Given the description of an element on the screen output the (x, y) to click on. 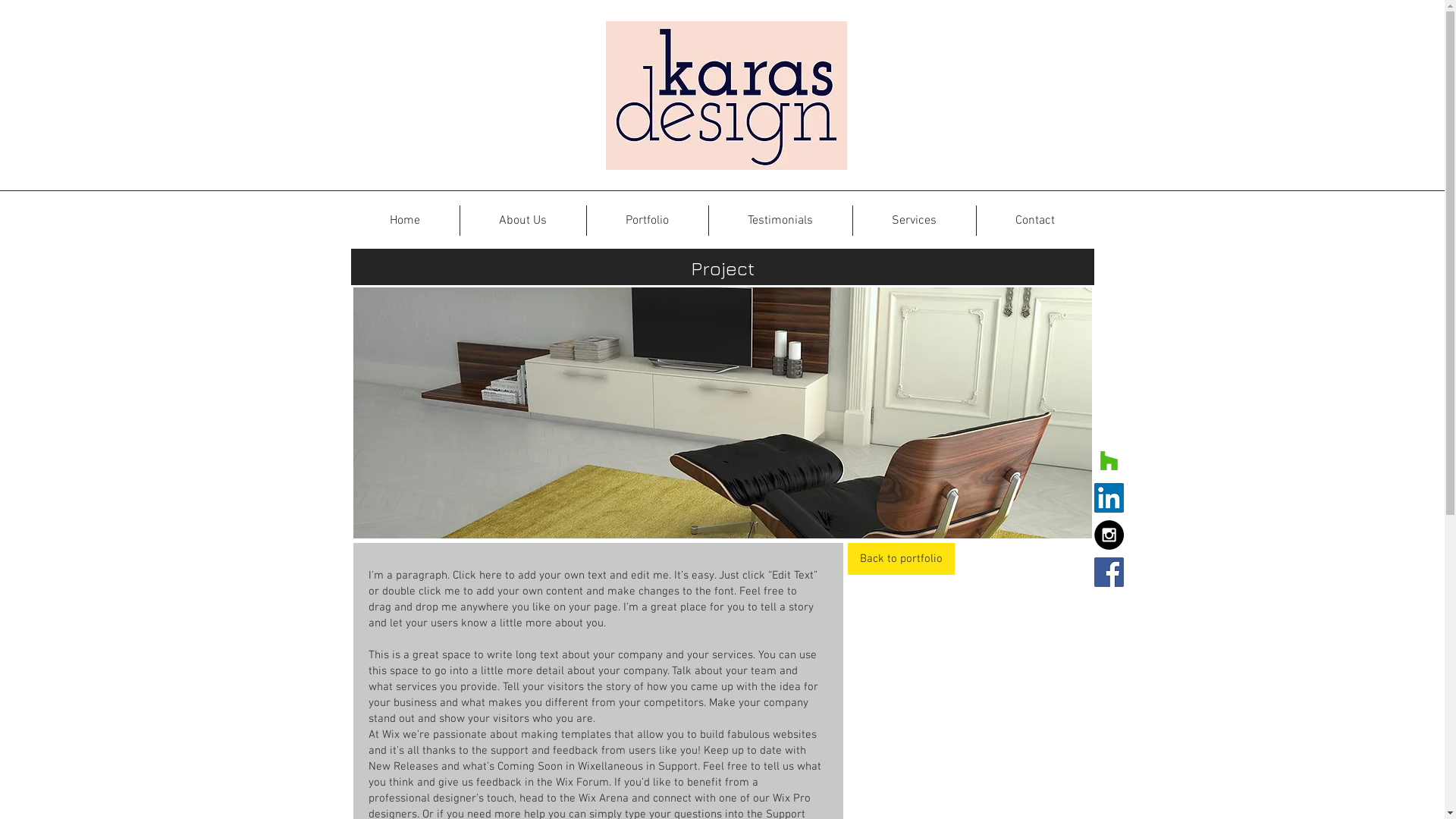
About Us Element type: text (522, 220)
Testimonials Element type: text (779, 220)
KARASdesign Element type: hover (725, 95)
Services Element type: text (913, 220)
Back to portfolio Element type: text (900, 558)
Contact Element type: text (1035, 220)
Portfolio Element type: text (647, 220)
Home Element type: text (404, 220)
